Given the description of an element on the screen output the (x, y) to click on. 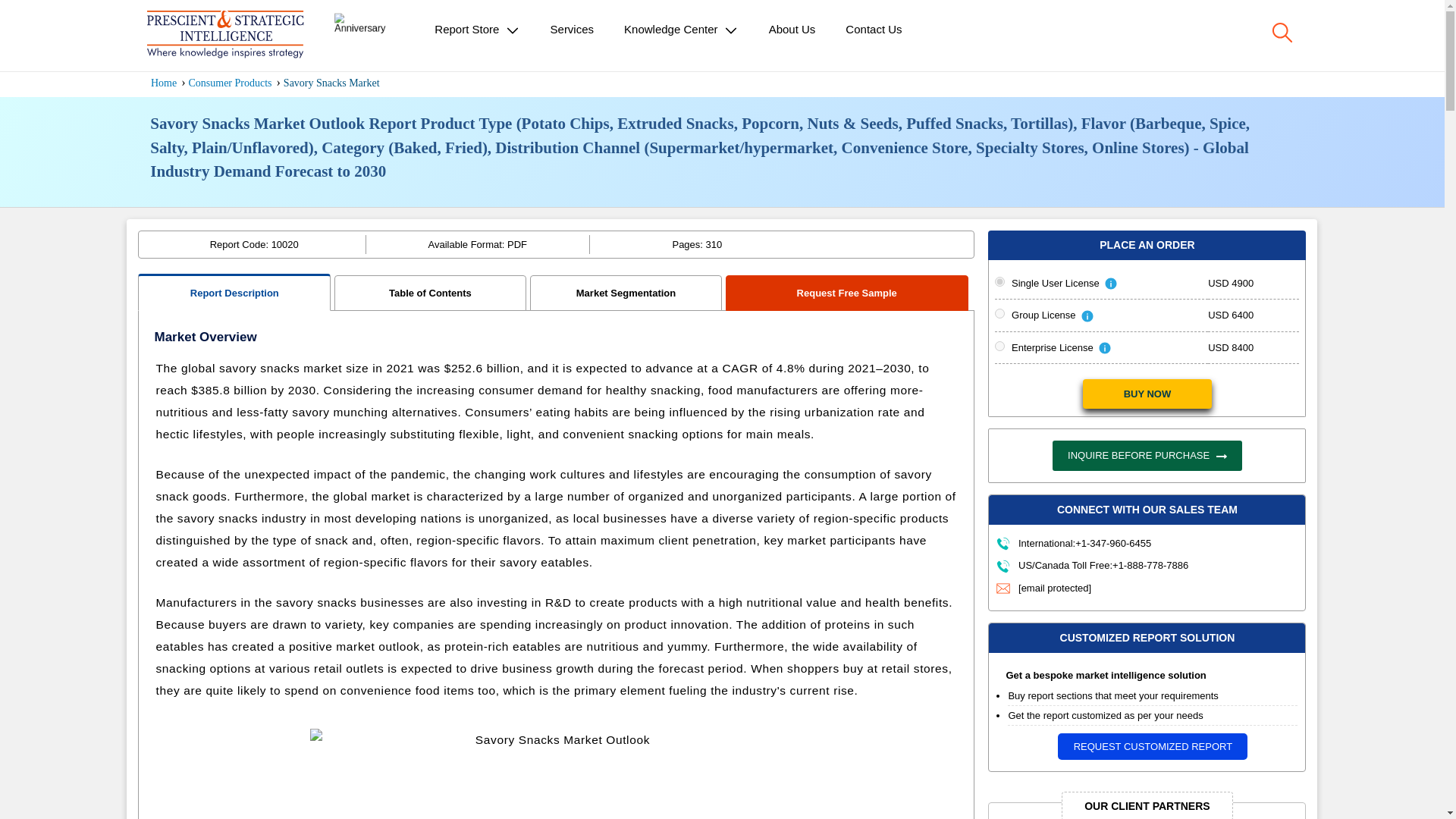
289 (999, 280)
2784 (999, 346)
Services (572, 28)
291 (999, 313)
INQUIRE BEFORE PURCHASE (1146, 455)
BUY NOW (1147, 393)
Market Segmentation (626, 293)
Knowledge Center (681, 30)
Home (163, 82)
REQUEST CUSTOMIZED REPORT (1152, 746)
